Given the description of an element on the screen output the (x, y) to click on. 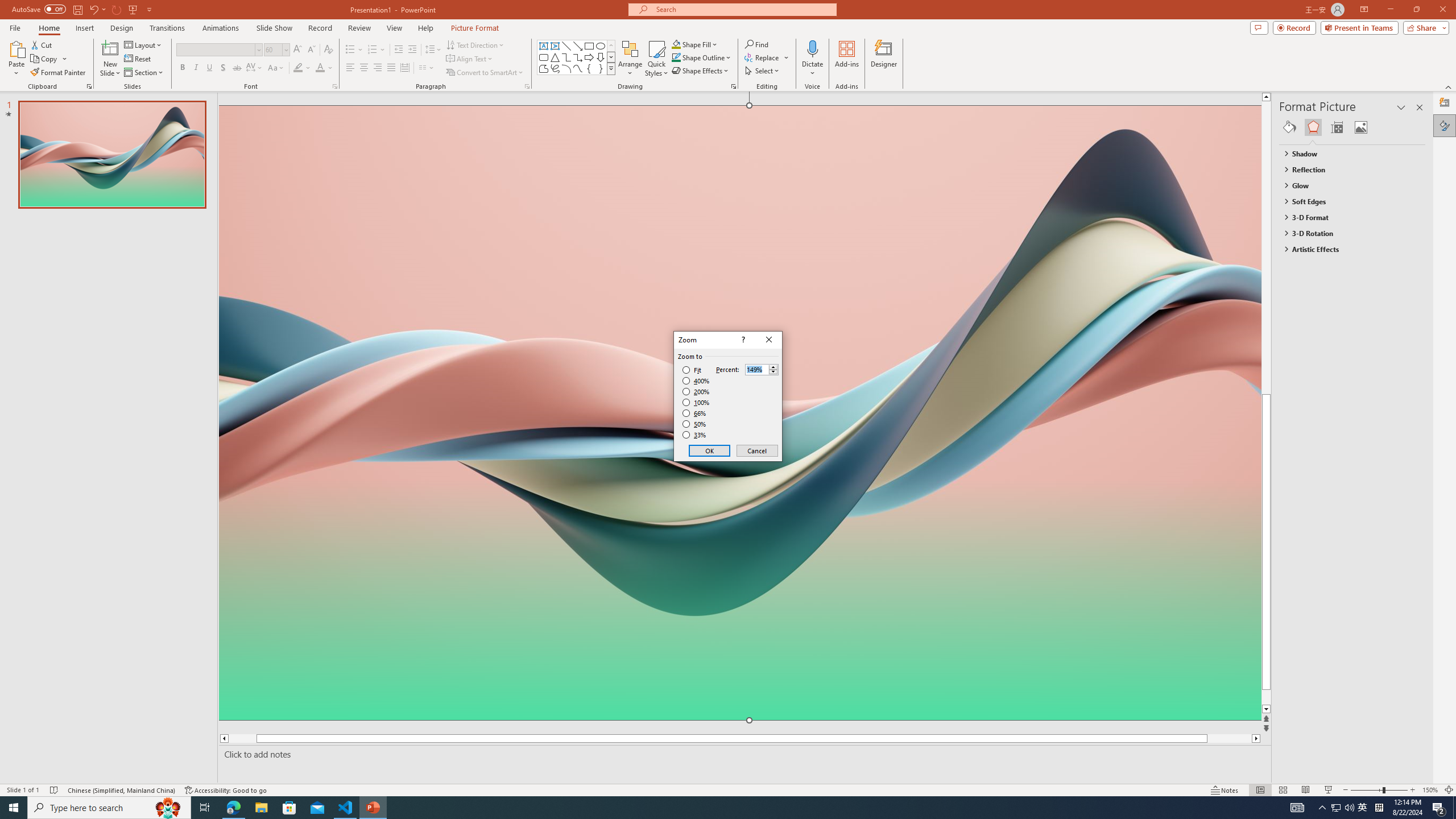
Numbering (372, 49)
Cancel (756, 450)
Font Color (324, 67)
Character Spacing (254, 67)
Paste (16, 48)
Align Right (377, 67)
Font Size (273, 49)
Columns (426, 67)
More (772, 366)
Office Clipboard... (88, 85)
Notification Chevron (1322, 807)
Page down (1287, 696)
Arrow: Right (589, 57)
200% (696, 391)
